Given the description of an element on the screen output the (x, y) to click on. 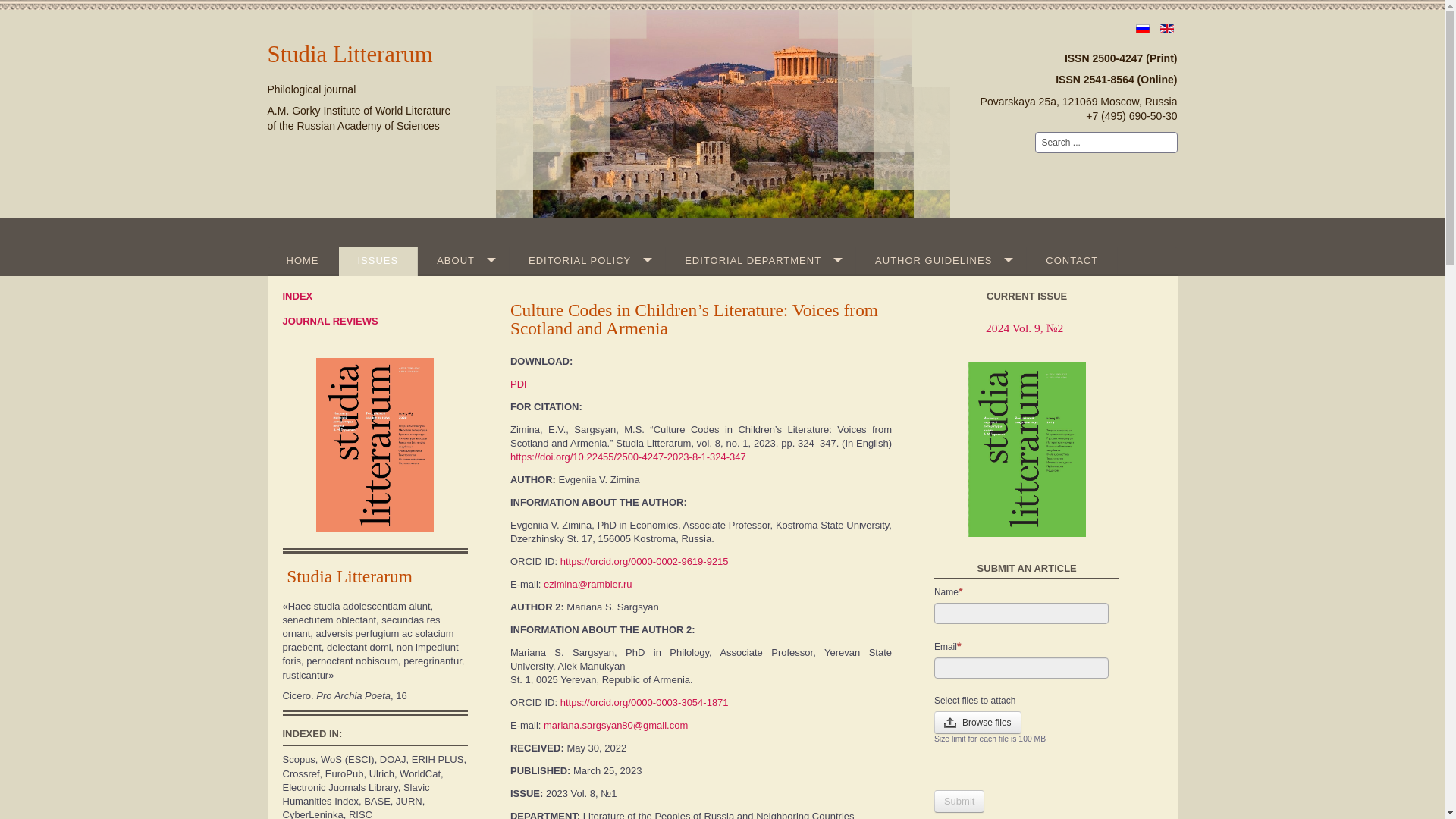
ISSUES (377, 261)
Search ... (1104, 142)
HOME (301, 261)
Search ... (1104, 142)
ABOUT (463, 261)
EDITORIAL DEPARTMENT (760, 261)
AUTHOR GUIDELINES (941, 261)
CONTACT (1072, 261)
EDITORIAL POLICY (587, 261)
